Given the description of an element on the screen output the (x, y) to click on. 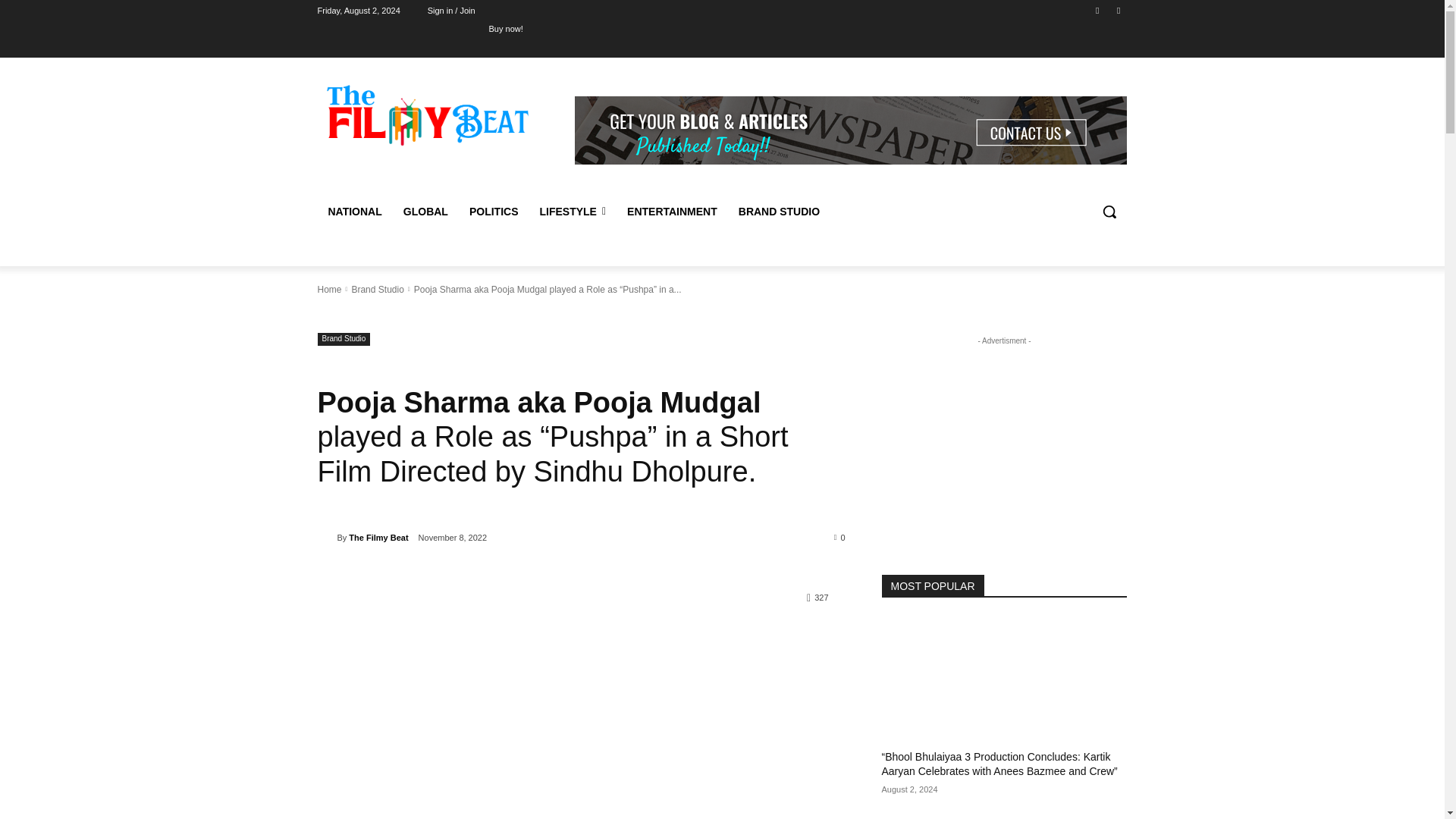
LIFESTYLE (571, 211)
Facebook (1097, 9)
POLITICS (493, 211)
Buy now! (520, 28)
GLOBAL (425, 211)
Instagram (1117, 9)
NATIONAL (354, 211)
